Given the description of an element on the screen output the (x, y) to click on. 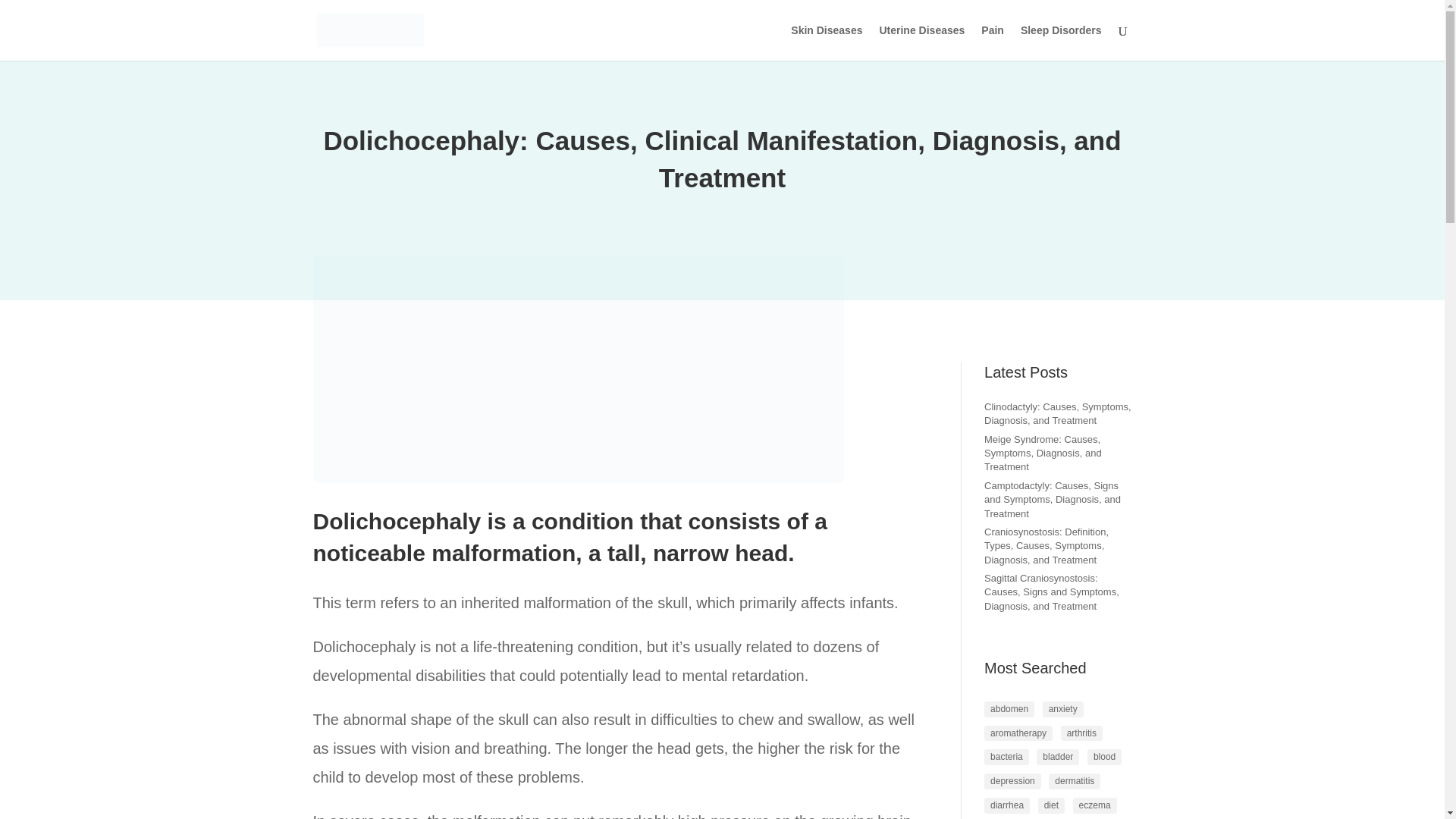
abdomen (1008, 709)
blood (1104, 756)
bacteria (1006, 756)
Clinodactyly: Causes, Symptoms, Diagnosis, and Treatment (1057, 413)
Sleep Disorders (1061, 42)
diet (1051, 805)
Skin Diseases (825, 42)
dermatitis (1074, 781)
